Given the description of an element on the screen output the (x, y) to click on. 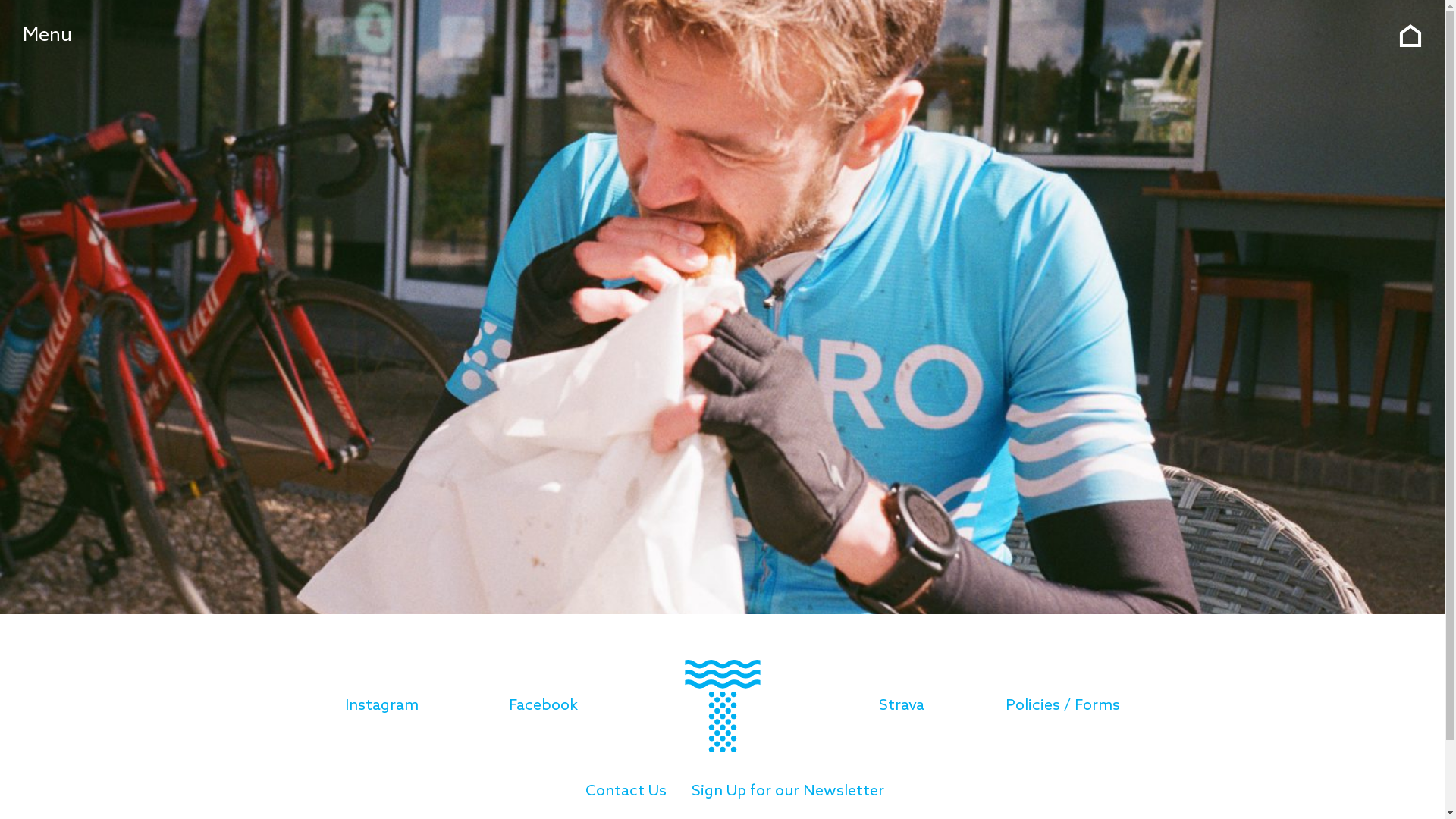
Strava Element type: text (901, 705)
Sign Up for our Newsletter Element type: text (787, 791)
Policies / Forms Element type: text (1062, 705)
Return to the homepage Element type: hover (1410, 35)
Facebook Element type: text (542, 705)
Instagram Element type: text (381, 705)
Contact Us Element type: text (626, 791)
